Given the description of an element on the screen output the (x, y) to click on. 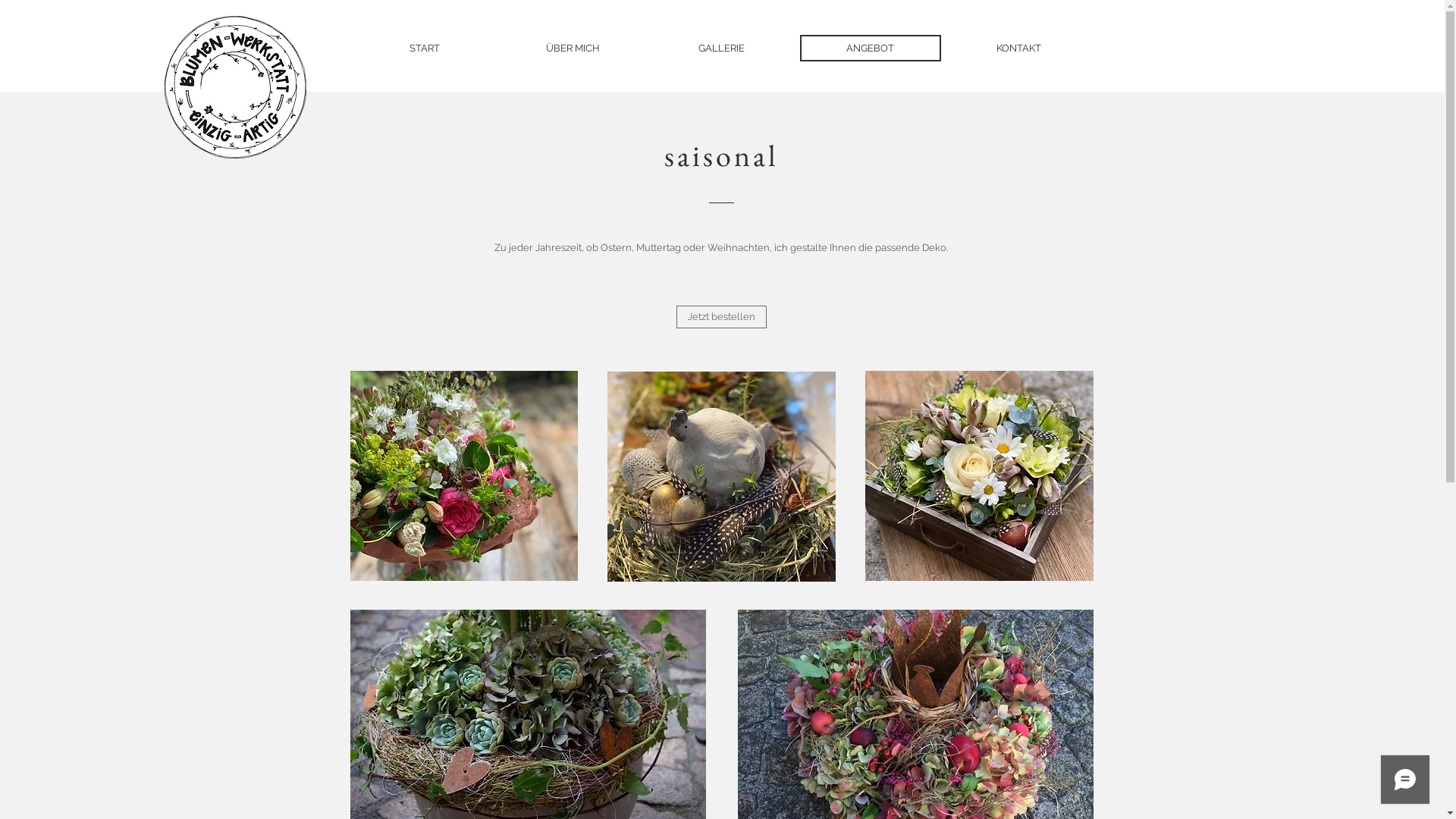
GALLERIE Element type: text (720, 47)
KONTAKT Element type: text (1017, 47)
Jetzt bestellen Element type: text (721, 316)
START Element type: text (423, 47)
ANGEBOT Element type: text (869, 47)
